Given the description of an element on the screen output the (x, y) to click on. 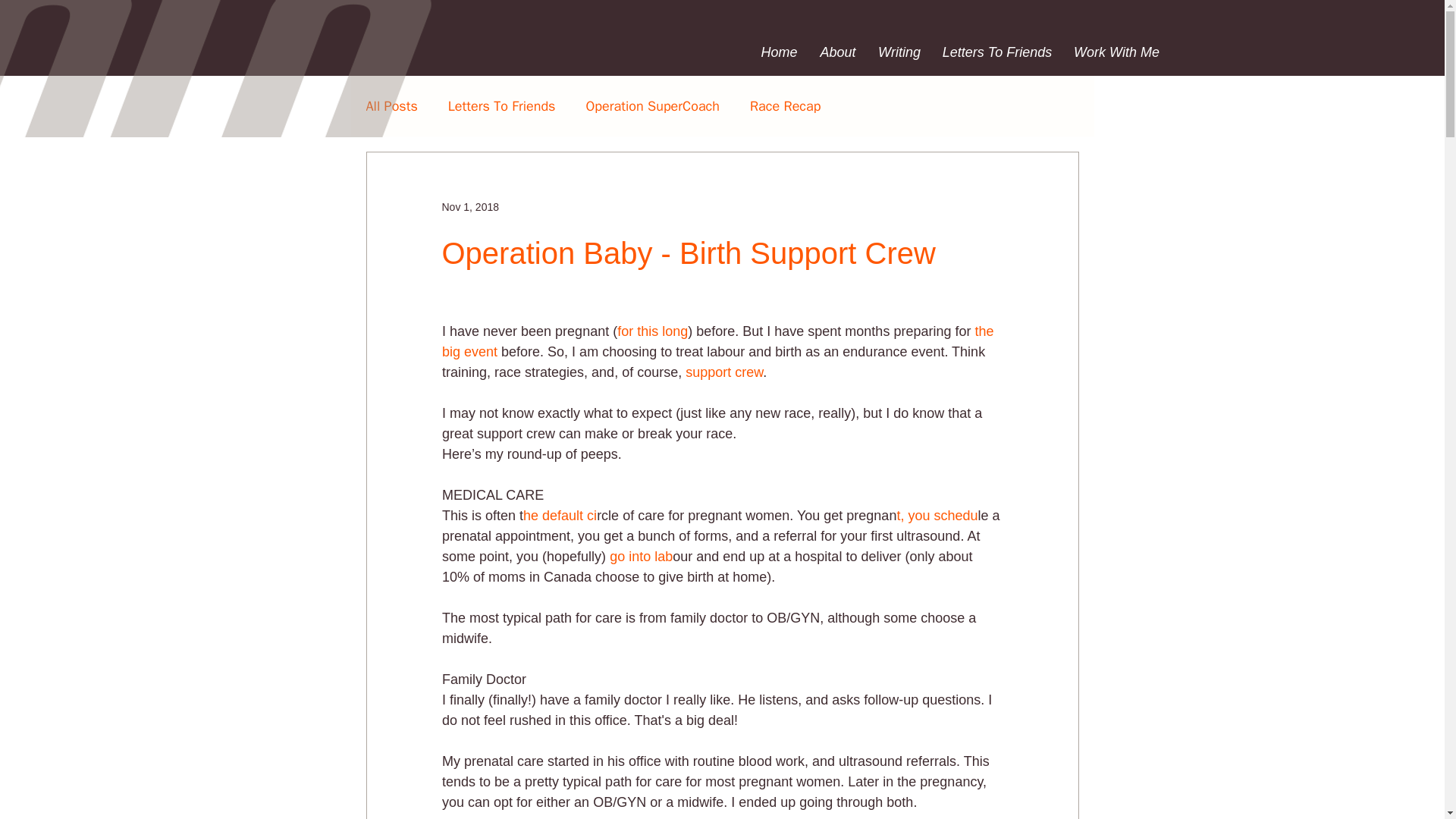
Nov 1, 2018 (470, 205)
Race Recap (785, 106)
t, you schedu (936, 515)
support crew (723, 372)
the big event (719, 341)
All Posts (390, 106)
 go into lab (638, 556)
Writing (899, 52)
he default ci (559, 515)
Letters To Friends (502, 106)
Letters To Friends (996, 52)
for this long (652, 331)
Operation SuperCoach (652, 106)
Home (778, 52)
About (837, 52)
